Given the description of an element on the screen output the (x, y) to click on. 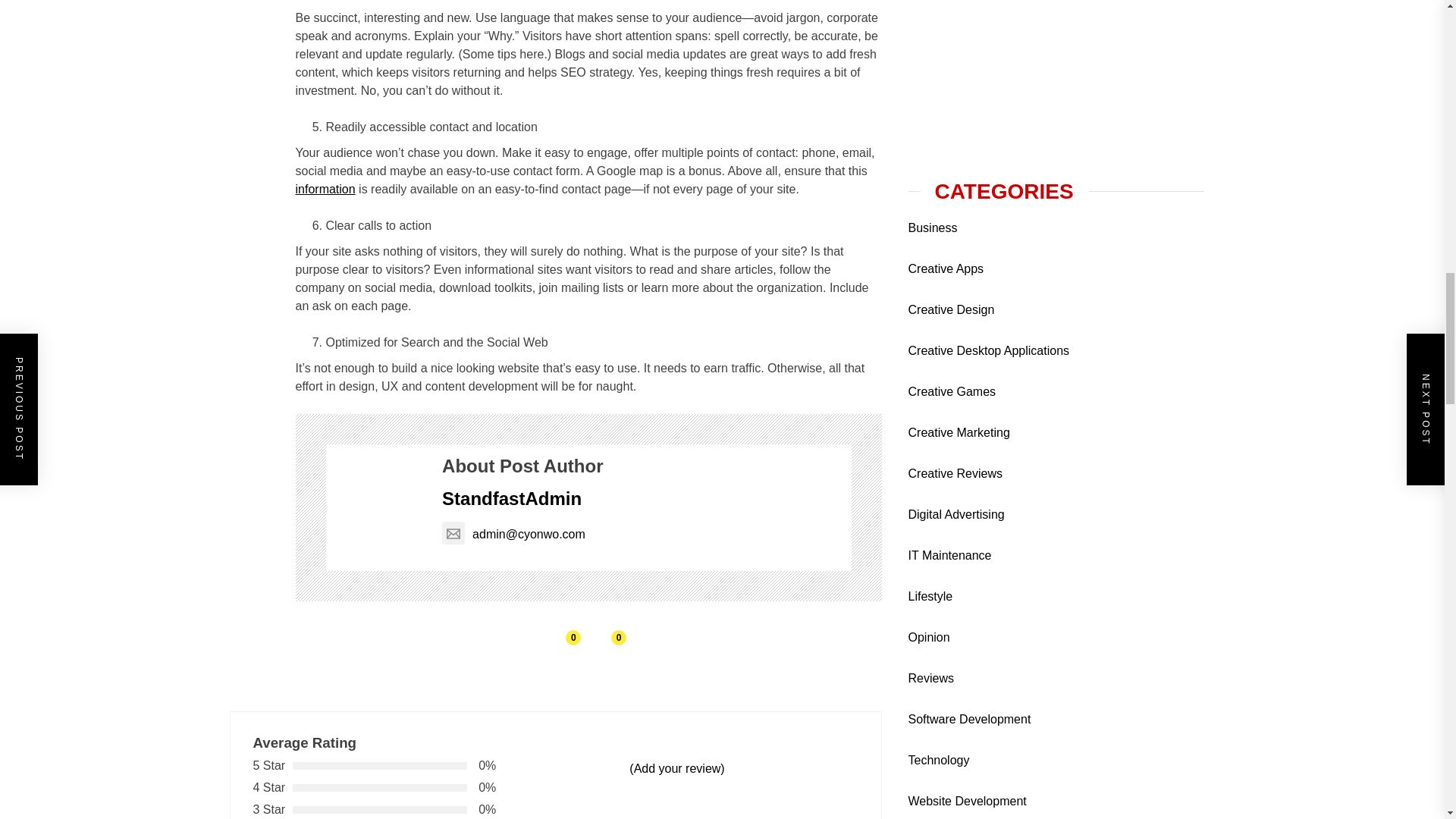
Click Here (1021, 553)
